Given the description of an element on the screen output the (x, y) to click on. 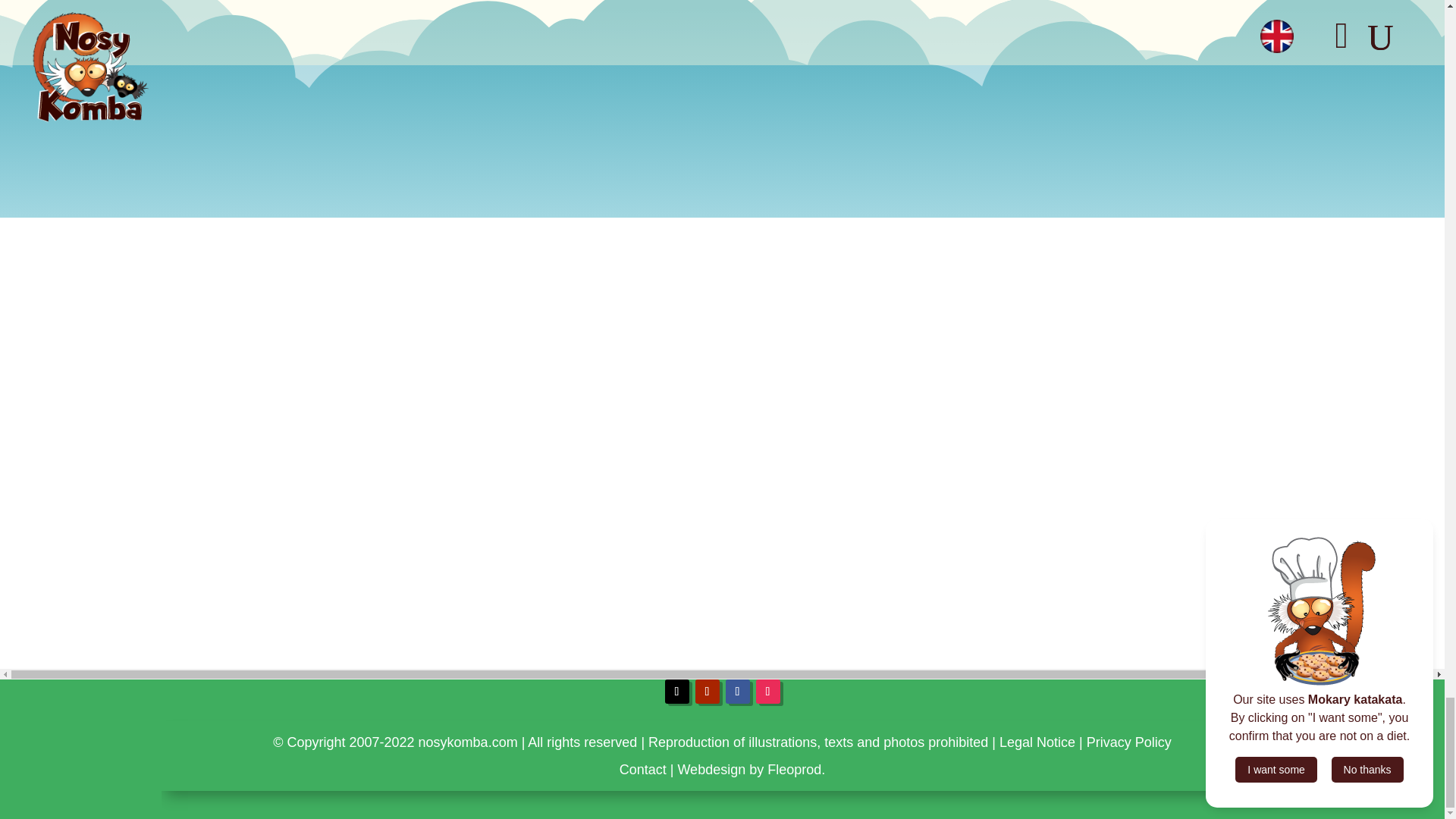
Follow on Youtube (706, 691)
Follow on X (675, 691)
Follow on Facebook (737, 691)
